Given the description of an element on the screen output the (x, y) to click on. 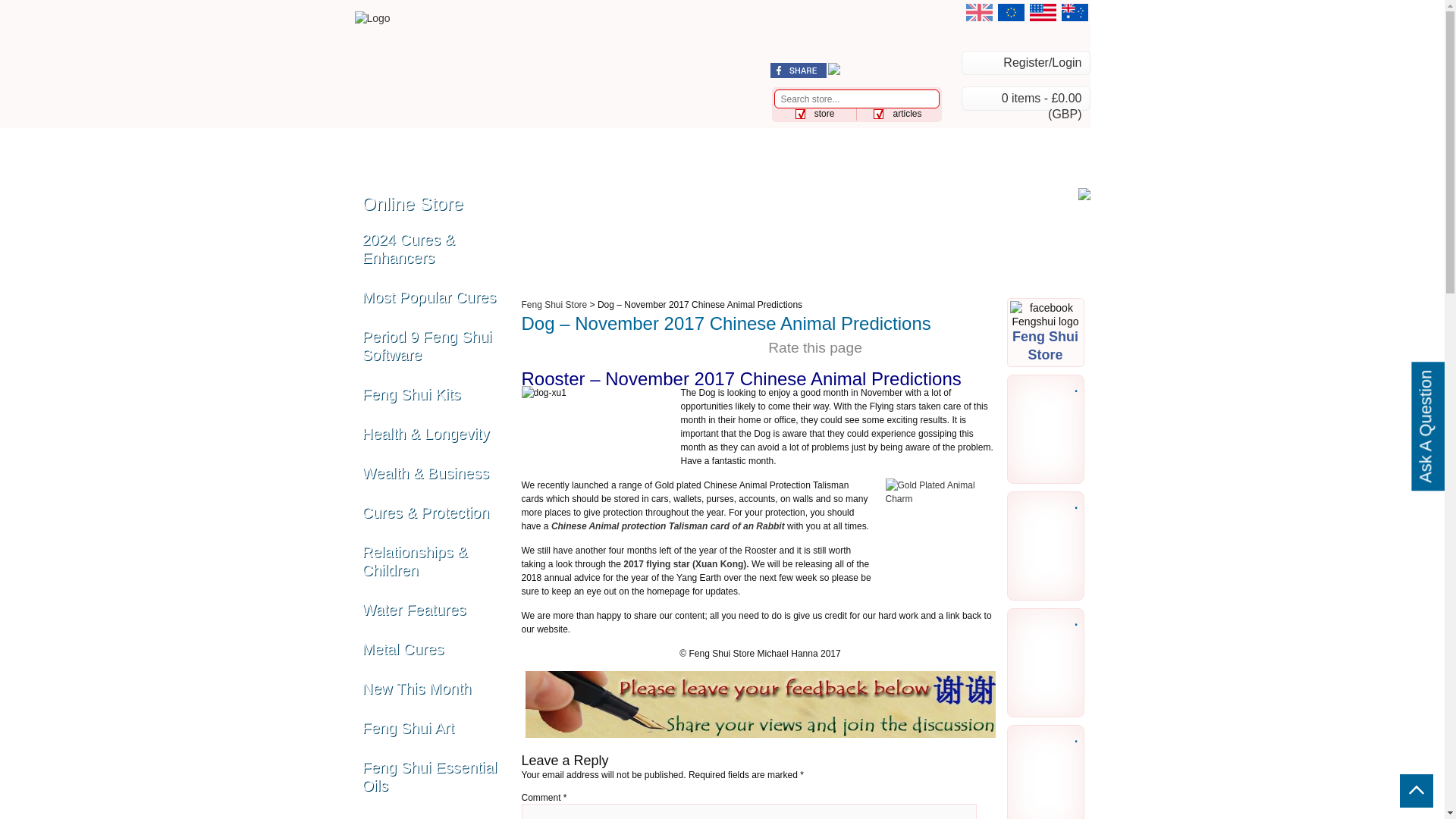
Latest Feng Shui news (554, 137)
Home (387, 137)
Chinese Animal protection Talisman card of an Rabbit (667, 525)
Online Store (473, 137)
About us (1010, 137)
Login (1025, 62)
View your shopping cart (1025, 98)
Daily Almanac (908, 137)
Feng Shui Store (554, 304)
Contact us (403, 161)
